Given the description of an element on the screen output the (x, y) to click on. 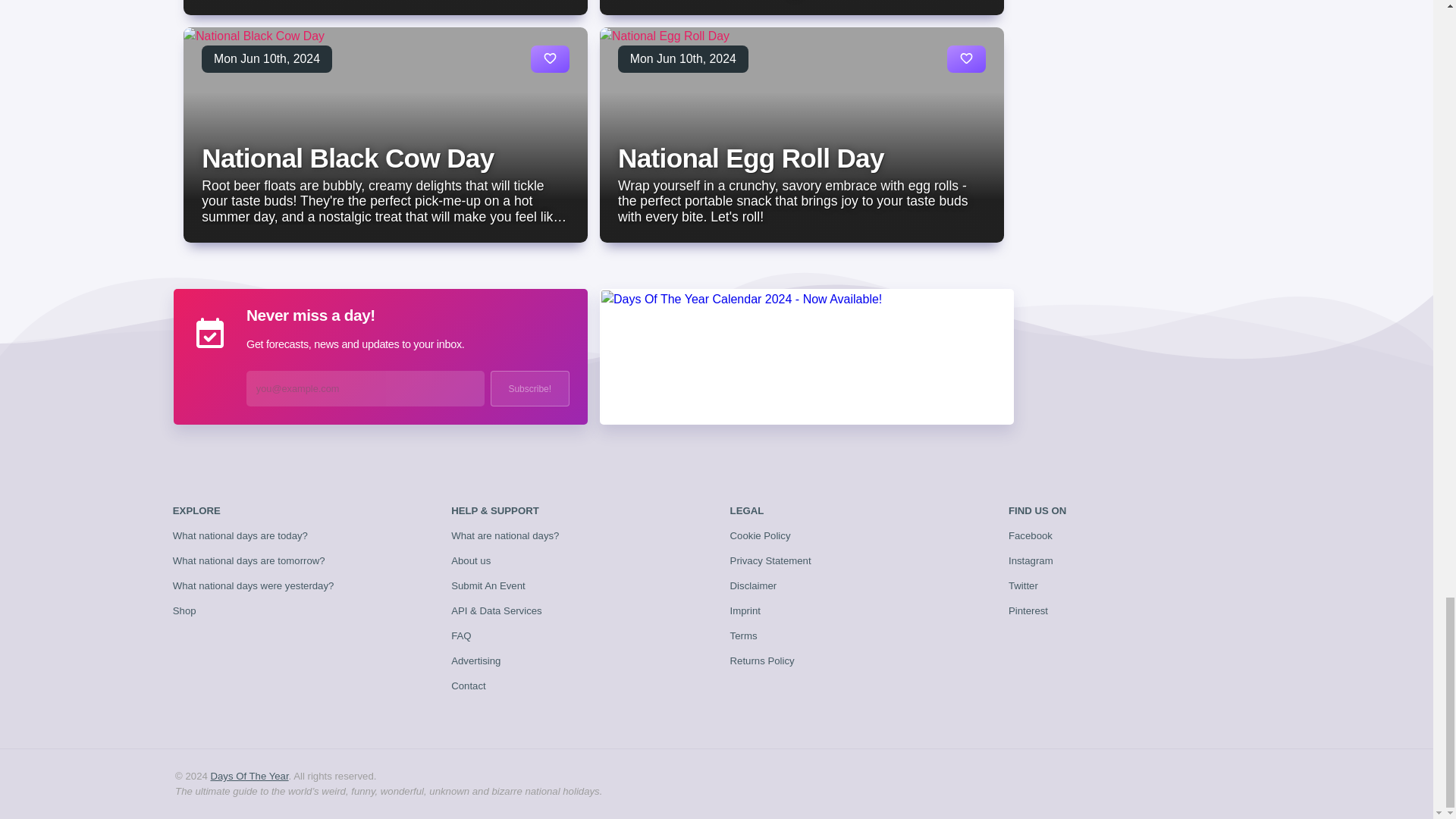
Pinterest (1028, 610)
National Egg Roll Day (750, 157)
What national days are tomorrow? (248, 560)
Facebook (1030, 535)
Subscribe! (529, 388)
Shop (184, 610)
Instagram (1030, 560)
Subscribe! (529, 388)
National Black Cow Day (347, 157)
What national days were yesterday? (253, 585)
Twitter (1023, 585)
What national days are today? (240, 535)
What are national days? (505, 535)
